Given the description of an element on the screen output the (x, y) to click on. 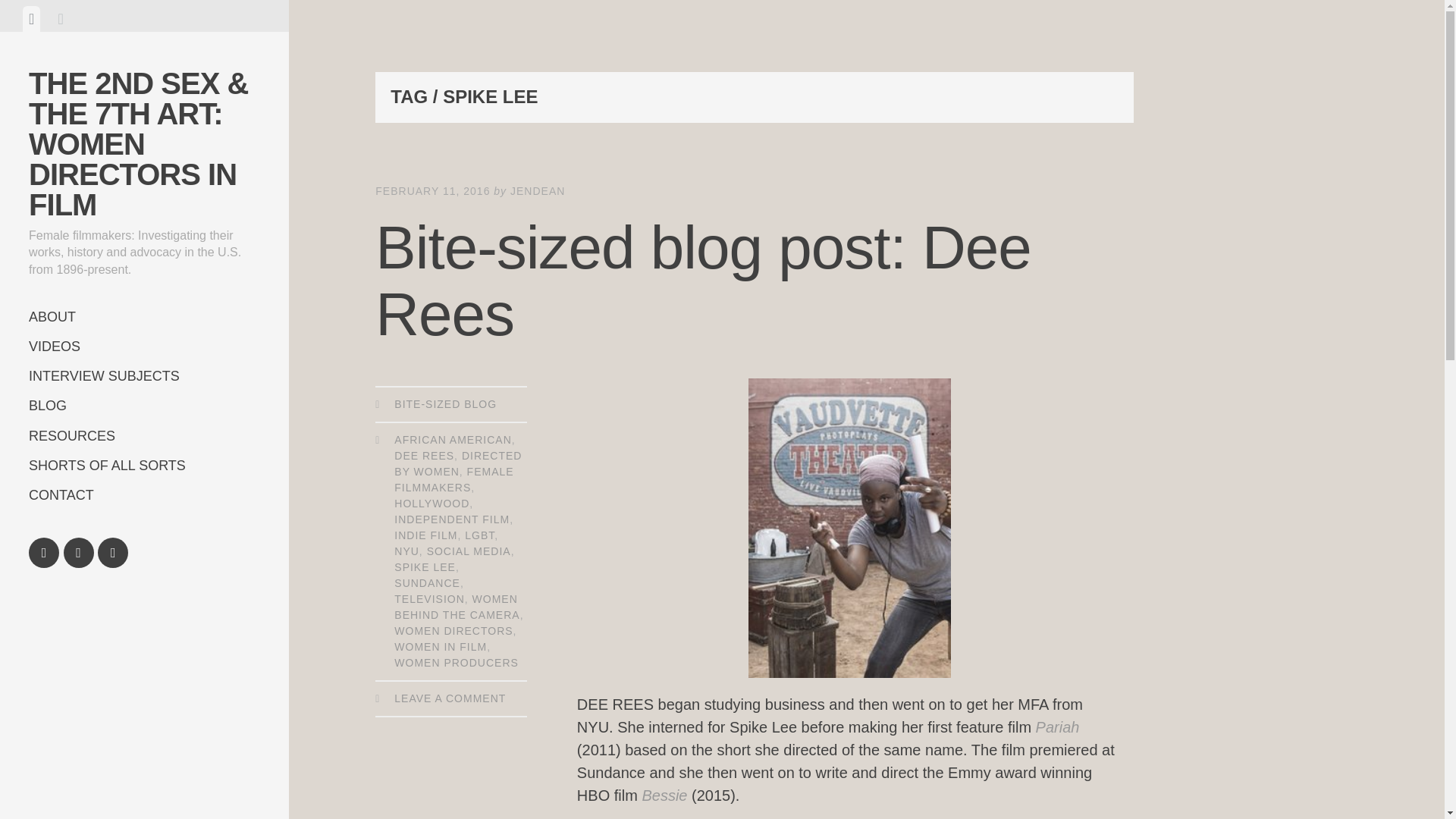
BLOG (144, 405)
ABOUT (144, 317)
VIDEOS (144, 346)
INTERVIEW SUBJECTS (144, 376)
Instagram (112, 552)
CONTACT (144, 495)
RESOURCES (144, 436)
SHORTS OF ALL SORTS (144, 465)
Facebook (44, 552)
Twitter (79, 552)
